Given the description of an element on the screen output the (x, y) to click on. 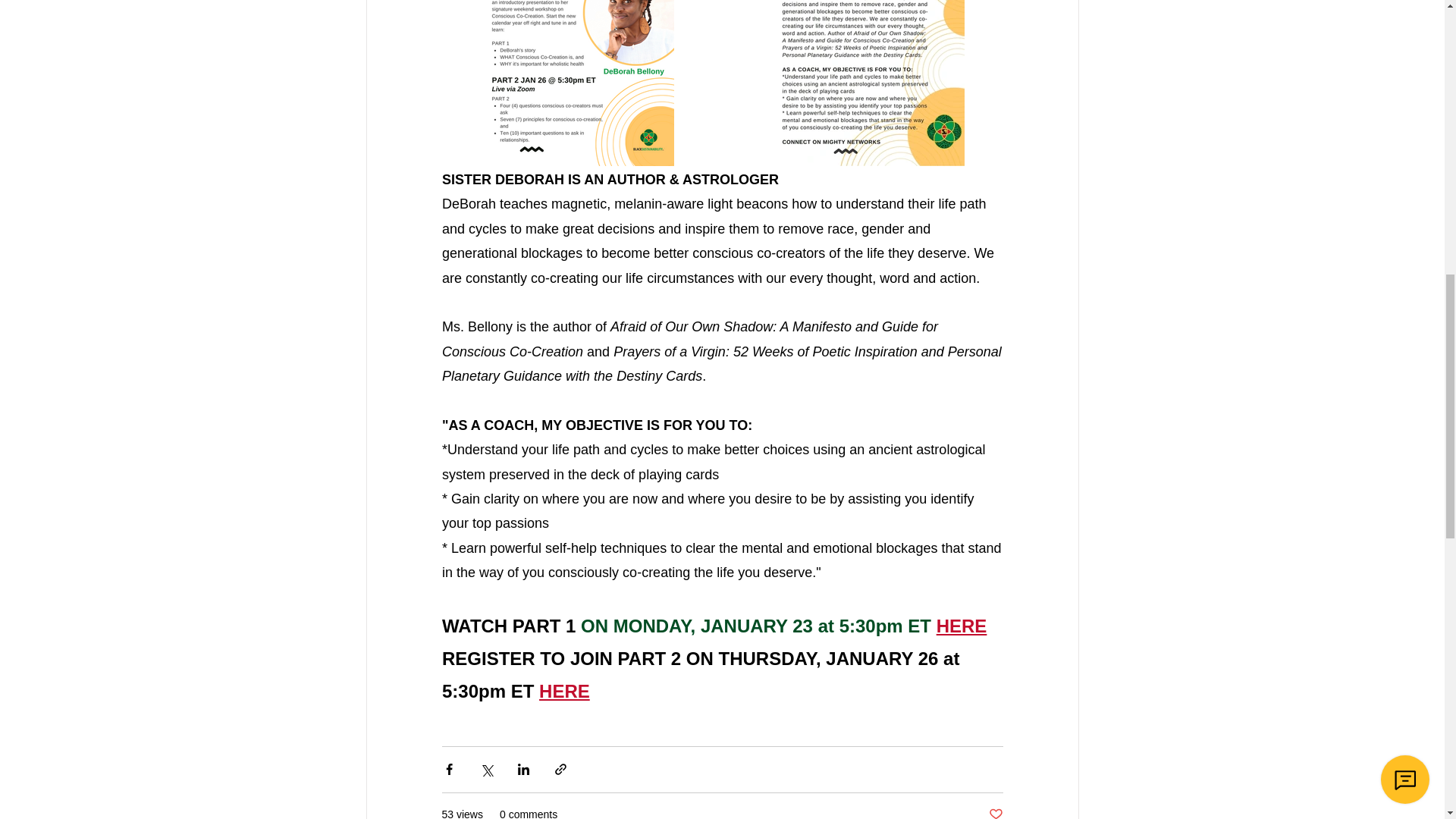
Post not marked as liked (995, 812)
HERE (563, 693)
HERE (961, 627)
